Given the description of an element on the screen output the (x, y) to click on. 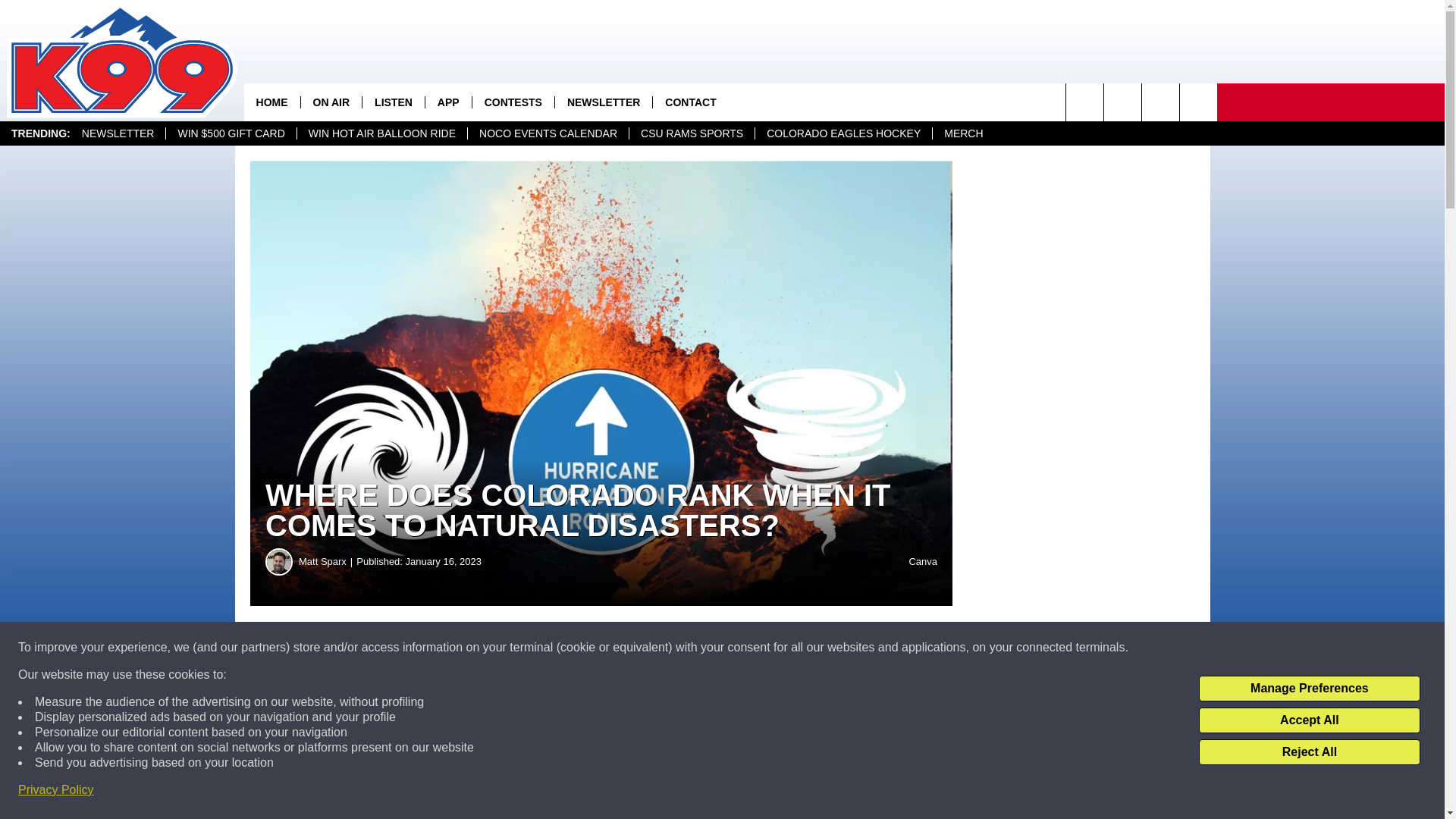
APP (448, 102)
NOCO EVENTS CALENDAR (547, 133)
CSU RAMS SPORTS (691, 133)
Share on Facebook (460, 647)
Share on Twitter (741, 647)
LISTEN (393, 102)
WIN HOT AIR BALLOON RIDE (382, 133)
CONTESTS (512, 102)
CONTACT (690, 102)
NEWSLETTER (117, 133)
